Given the description of an element on the screen output the (x, y) to click on. 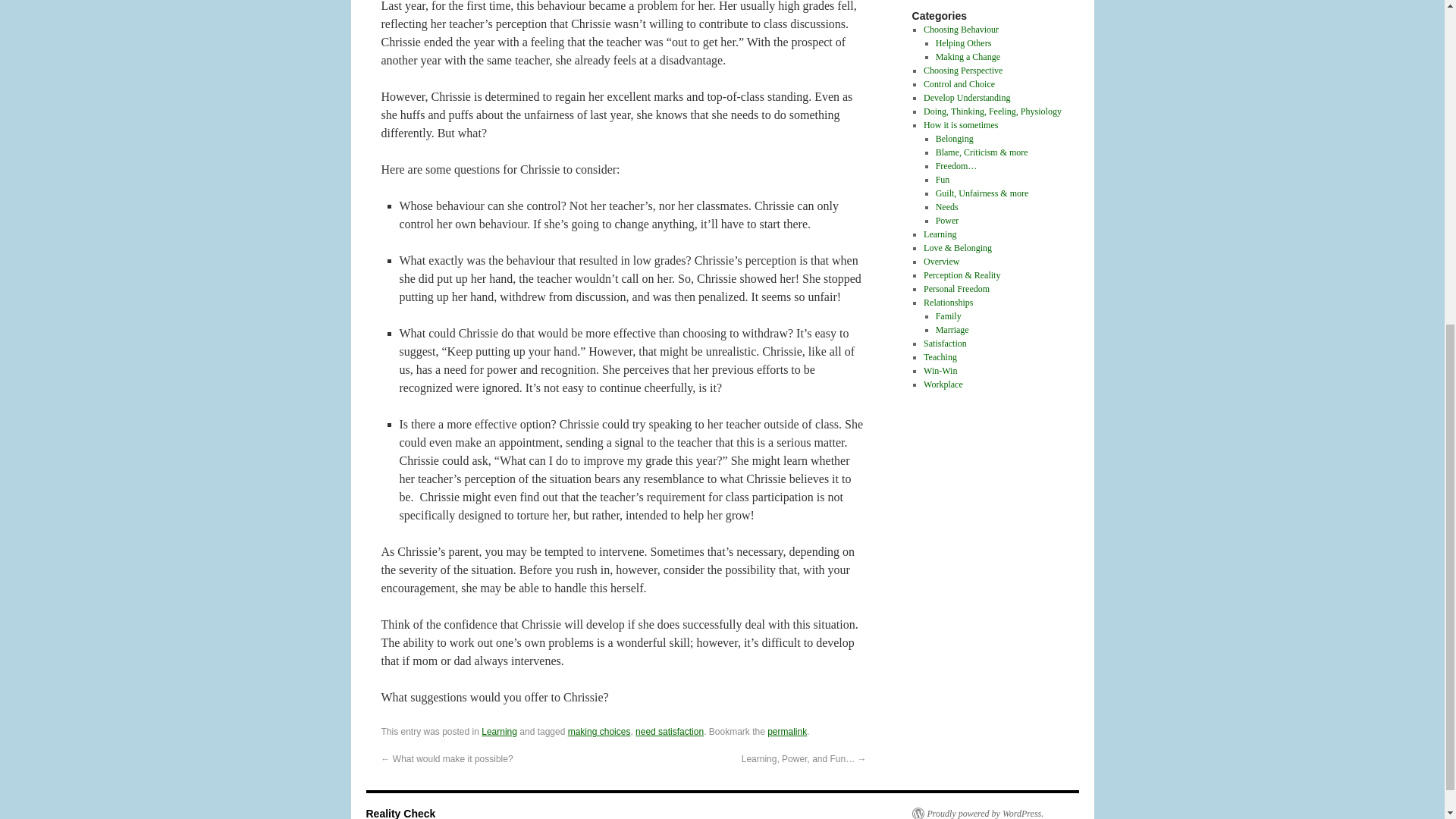
Overview (941, 261)
Making a Change (968, 56)
Choosing Behaviour (960, 29)
Learning (939, 234)
Personal Freedom (956, 288)
Belonging (955, 138)
Develop Understanding (966, 97)
Power (947, 220)
making choices (598, 731)
Choosing Perspective (963, 70)
permalink (786, 731)
Relationships (947, 302)
How it is sometimes (960, 124)
Needs (947, 206)
need satisfaction (668, 731)
